Given the description of an element on the screen output the (x, y) to click on. 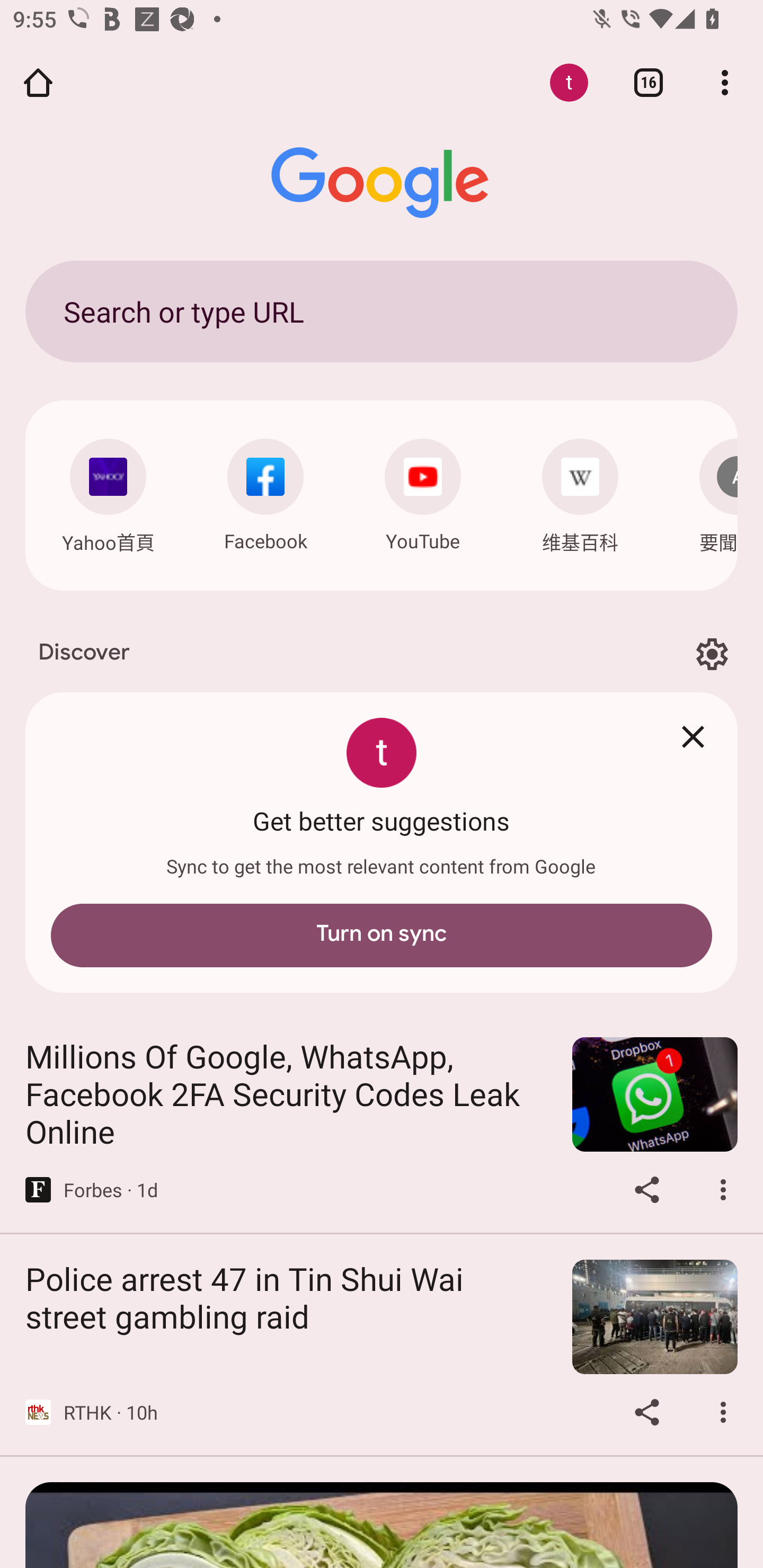
Open the home page (38, 82)
Switch or close tabs (648, 82)
Customize and control Google Chrome (724, 82)
Search or type URL (381, 311)
Navigate: Yahoo首頁: hk.mobi.yahoo.com Yahoo首頁 (107, 491)
Navigate: Facebook: m.facebook.com Facebook (265, 490)
Navigate: YouTube: m.youtube.com YouTube (422, 490)
Navigate: 维基百科: zh.m.wikipedia.org 维基百科 (579, 491)
Navigate: 要聞港聞: hk.news.appledaily.com 要聞港聞 (705, 491)
Options for Discover (711, 654)
Close (692, 736)
Turn on sync (381, 934)
